Given the description of an element on the screen output the (x, y) to click on. 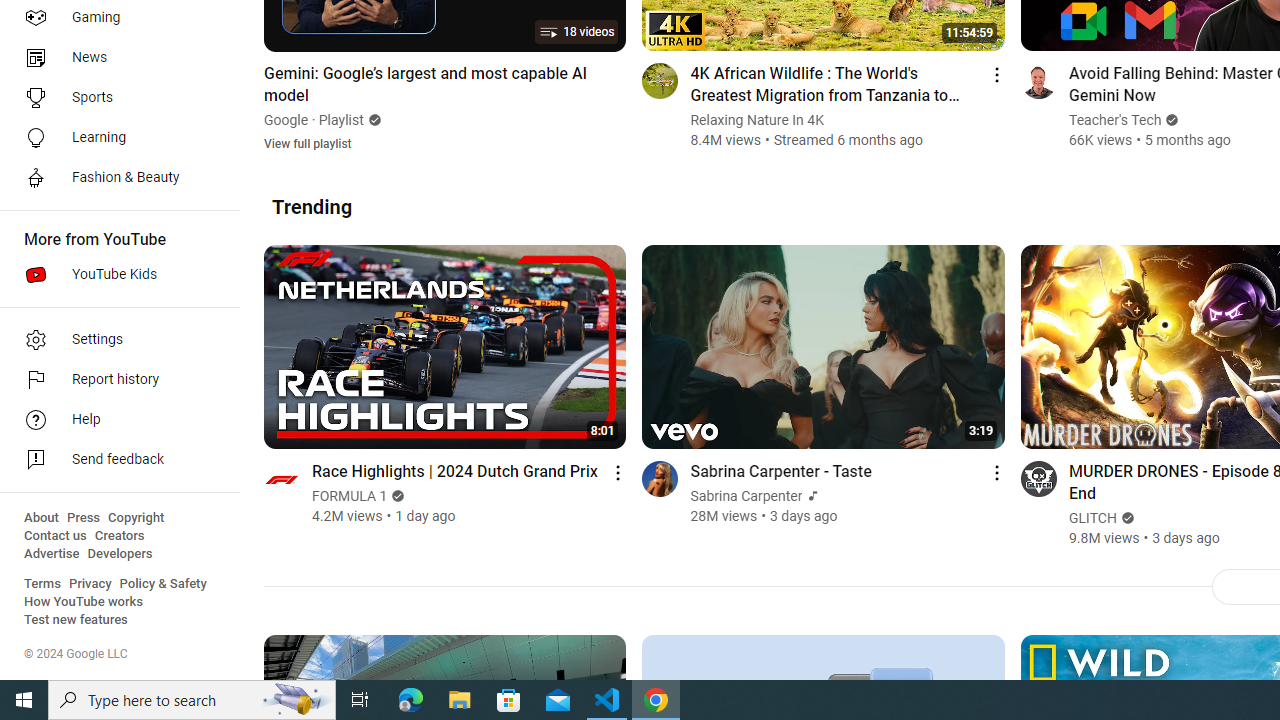
Send feedback (113, 459)
Copyright (136, 518)
Official Artist Channel (811, 495)
YouTube Kids (113, 274)
Press (83, 518)
News (113, 57)
